Given the description of an element on the screen output the (x, y) to click on. 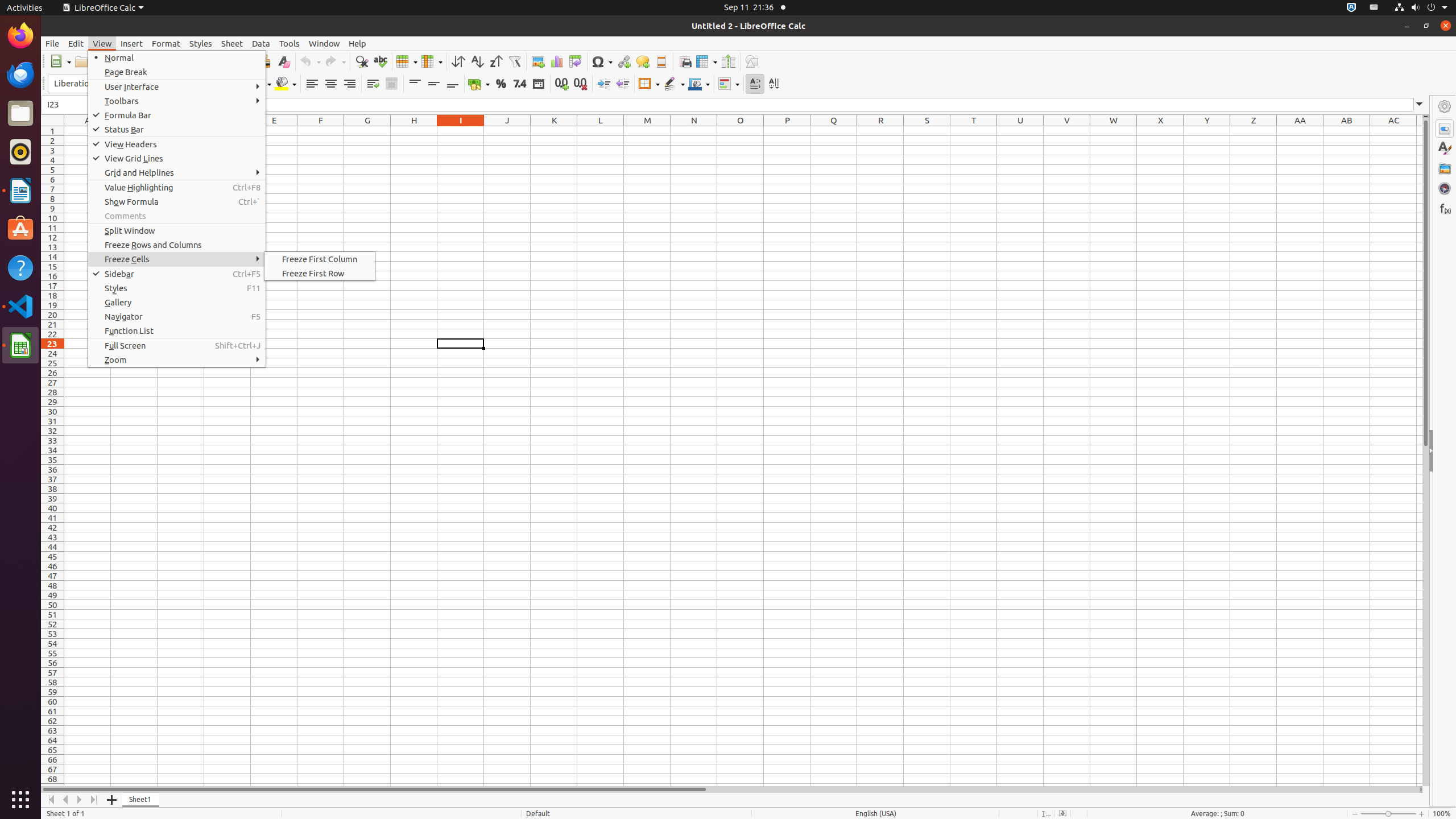
Increase Element type: push-button (603, 83)
Expand Formula Bar Element type: push-button (1419, 104)
Conditional Element type: push-button (728, 83)
H1 Element type: table-cell (413, 130)
New Element type: push-button (59, 61)
